Given the description of an element on the screen output the (x, y) to click on. 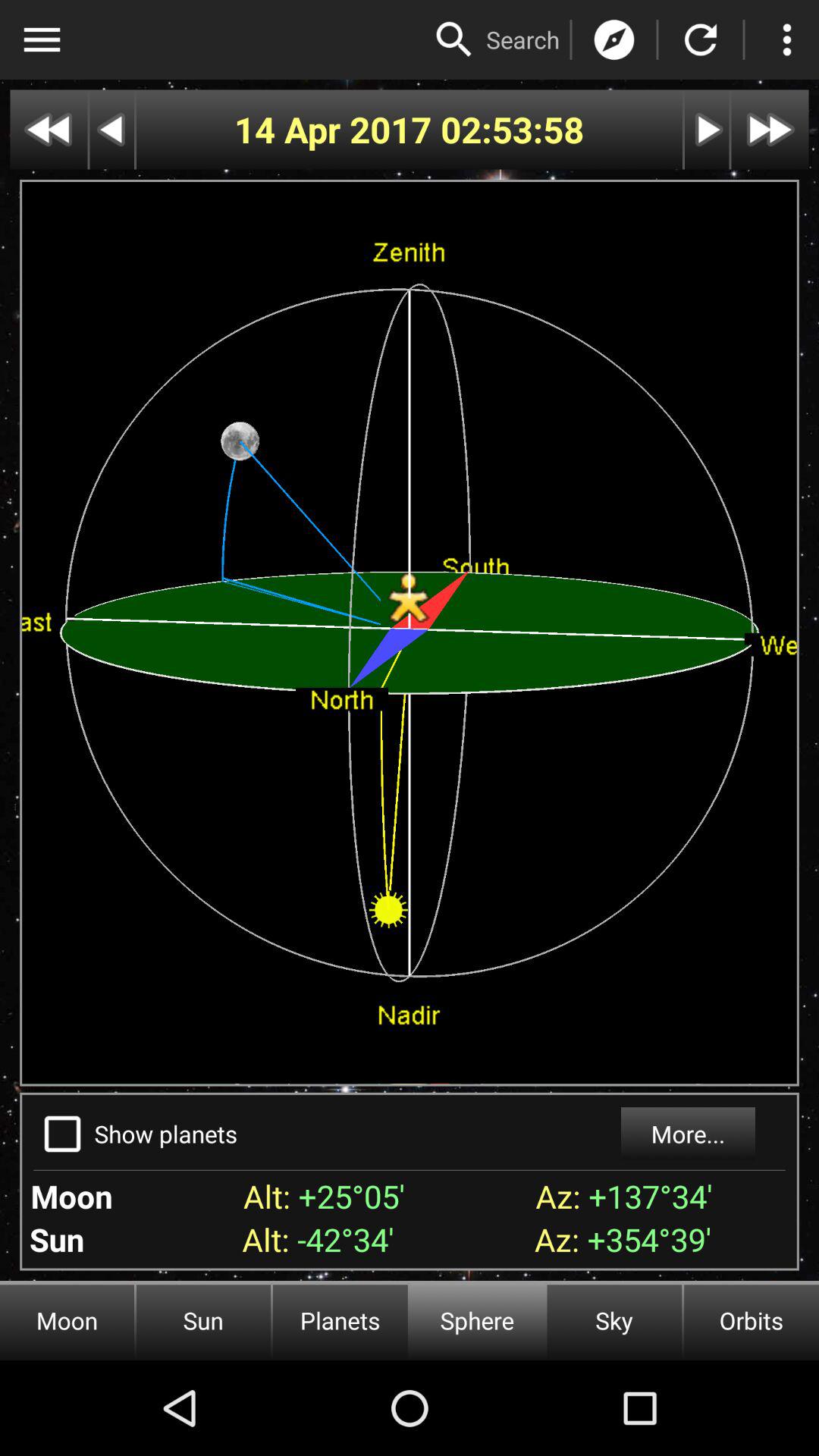
turn on app next to more... app (165, 1133)
